Given the description of an element on the screen output the (x, y) to click on. 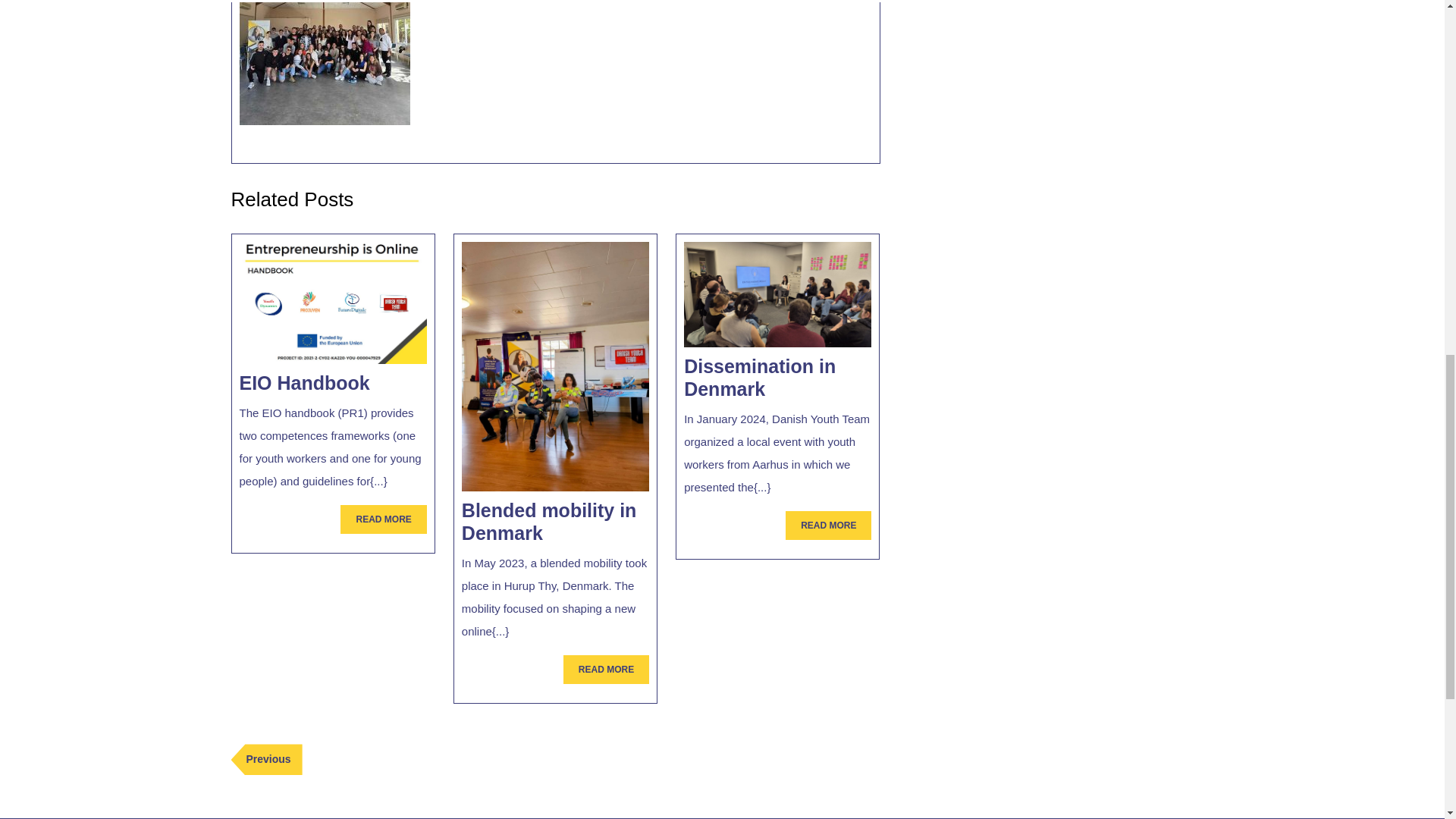
Dissemination in Denmark (304, 382)
Blended mobility in Denmark (828, 525)
EIO Handbook (759, 377)
